Given the description of an element on the screen output the (x, y) to click on. 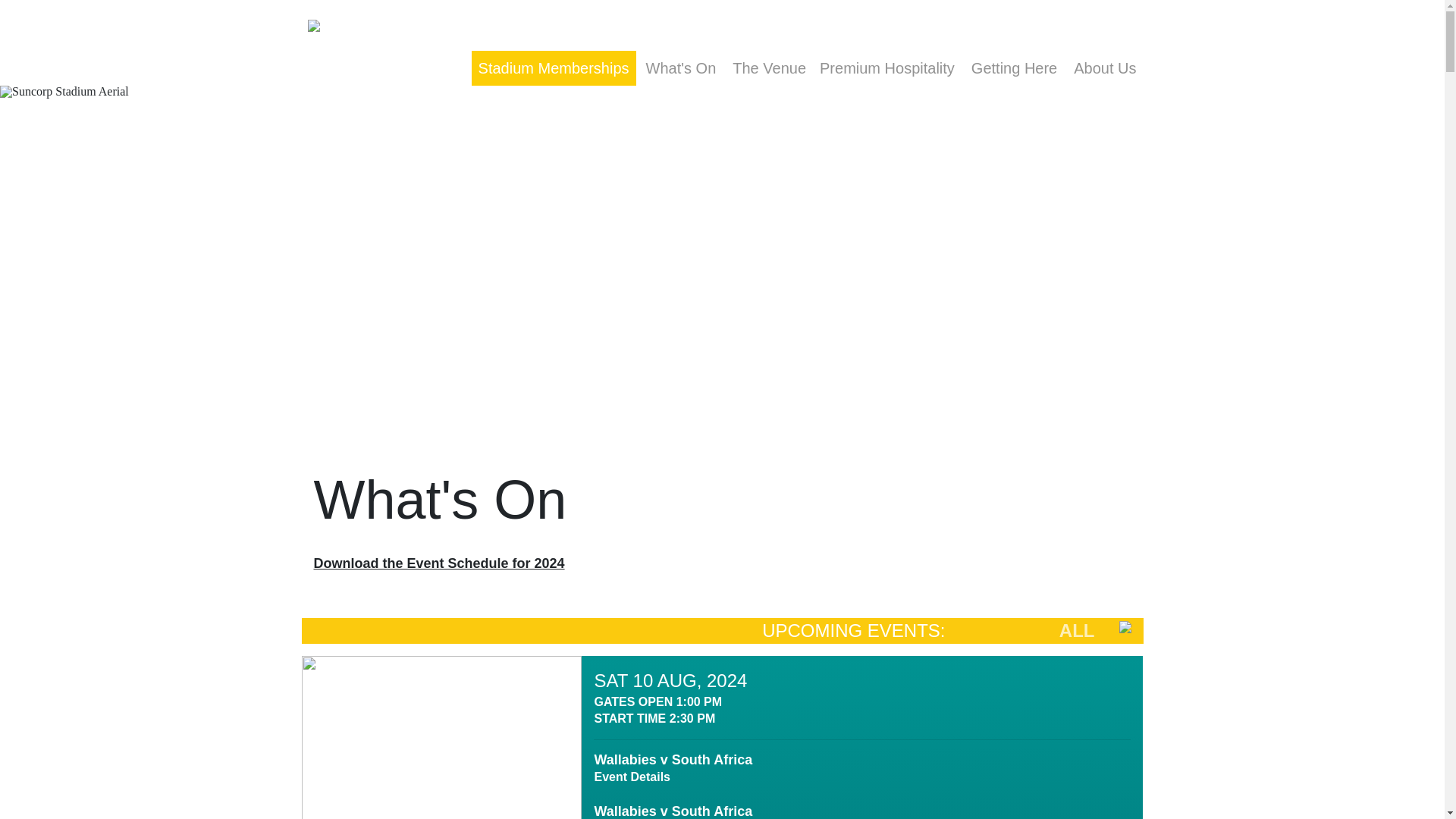
About Us (1104, 67)
Stadium Memberships (553, 67)
Getting Here (1014, 67)
Premium Hospitality (887, 67)
What'S On (681, 67)
The Venue (769, 67)
Download the Event Schedule for 2024 (439, 563)
Go! (1180, 42)
